Given the description of an element on the screen output the (x, y) to click on. 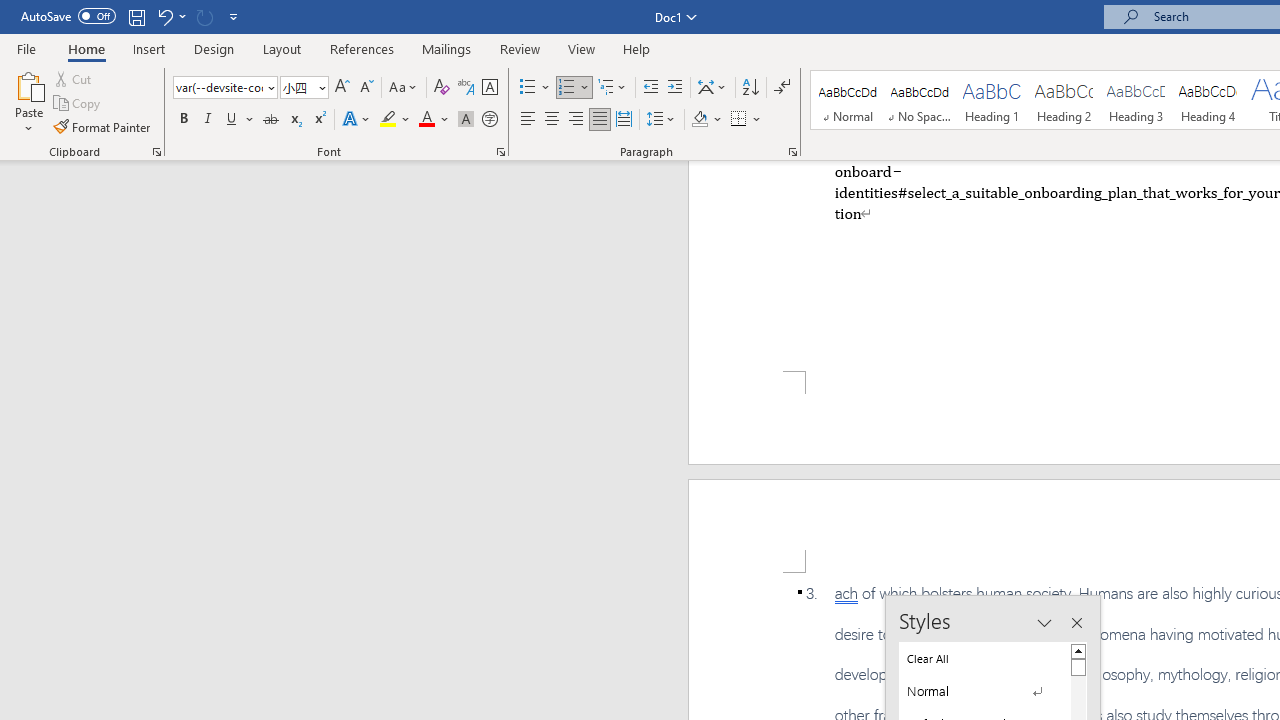
Superscript (319, 119)
Font Size (304, 87)
Character Border (489, 87)
Italic (207, 119)
Multilevel List (613, 87)
Underline (232, 119)
Paste (28, 102)
Enclose Characters... (489, 119)
Bullets (535, 87)
Font Color (434, 119)
Close pane (1076, 623)
Heading 3 (1135, 100)
Mailings (447, 48)
Undo Apply Quick Style (164, 15)
